Given the description of an element on the screen output the (x, y) to click on. 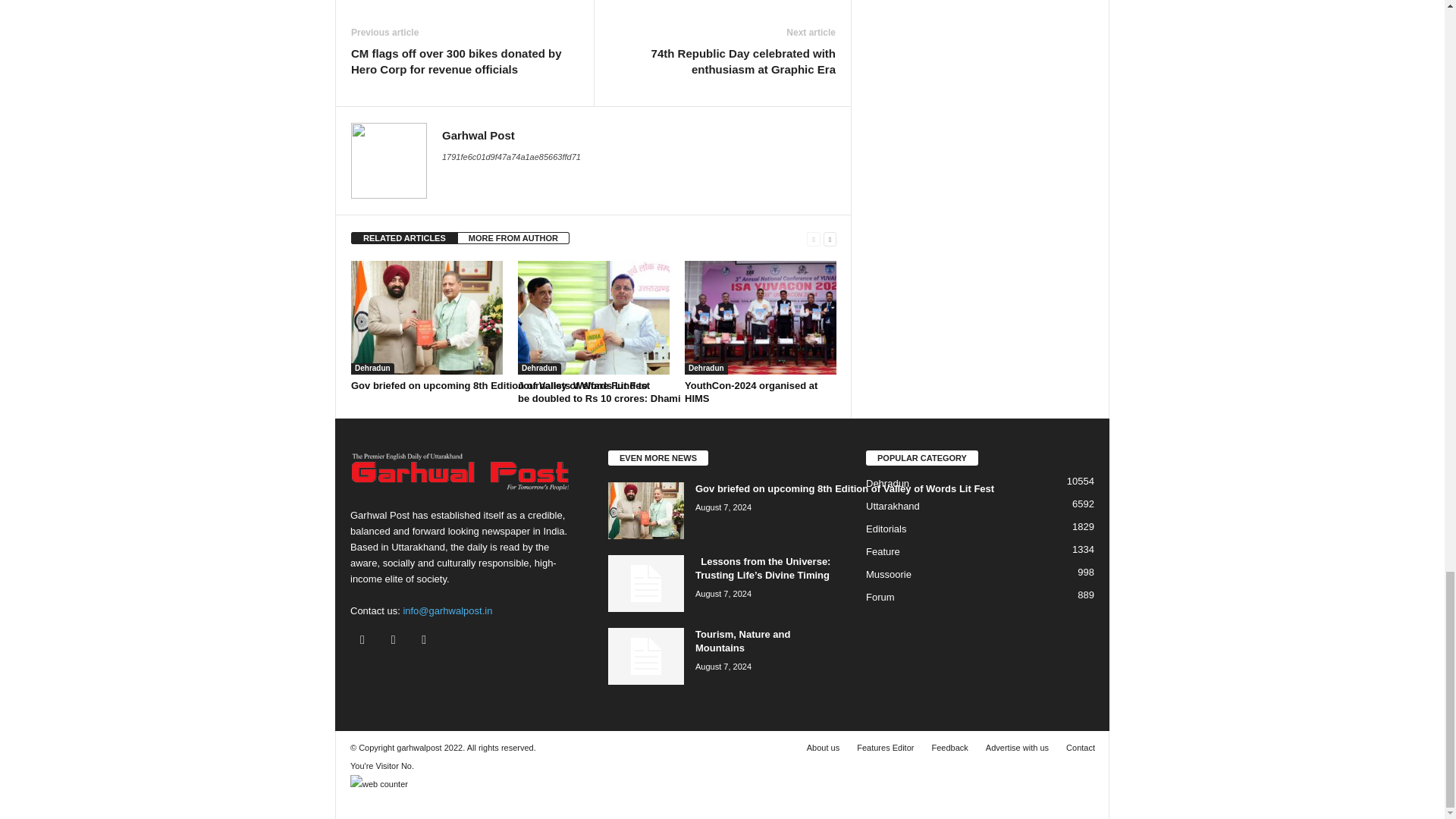
YouthCon-2024 organised at HIMS (759, 317)
YouthCon-2024 organised at HIMS (750, 392)
